Given the description of an element on the screen output the (x, y) to click on. 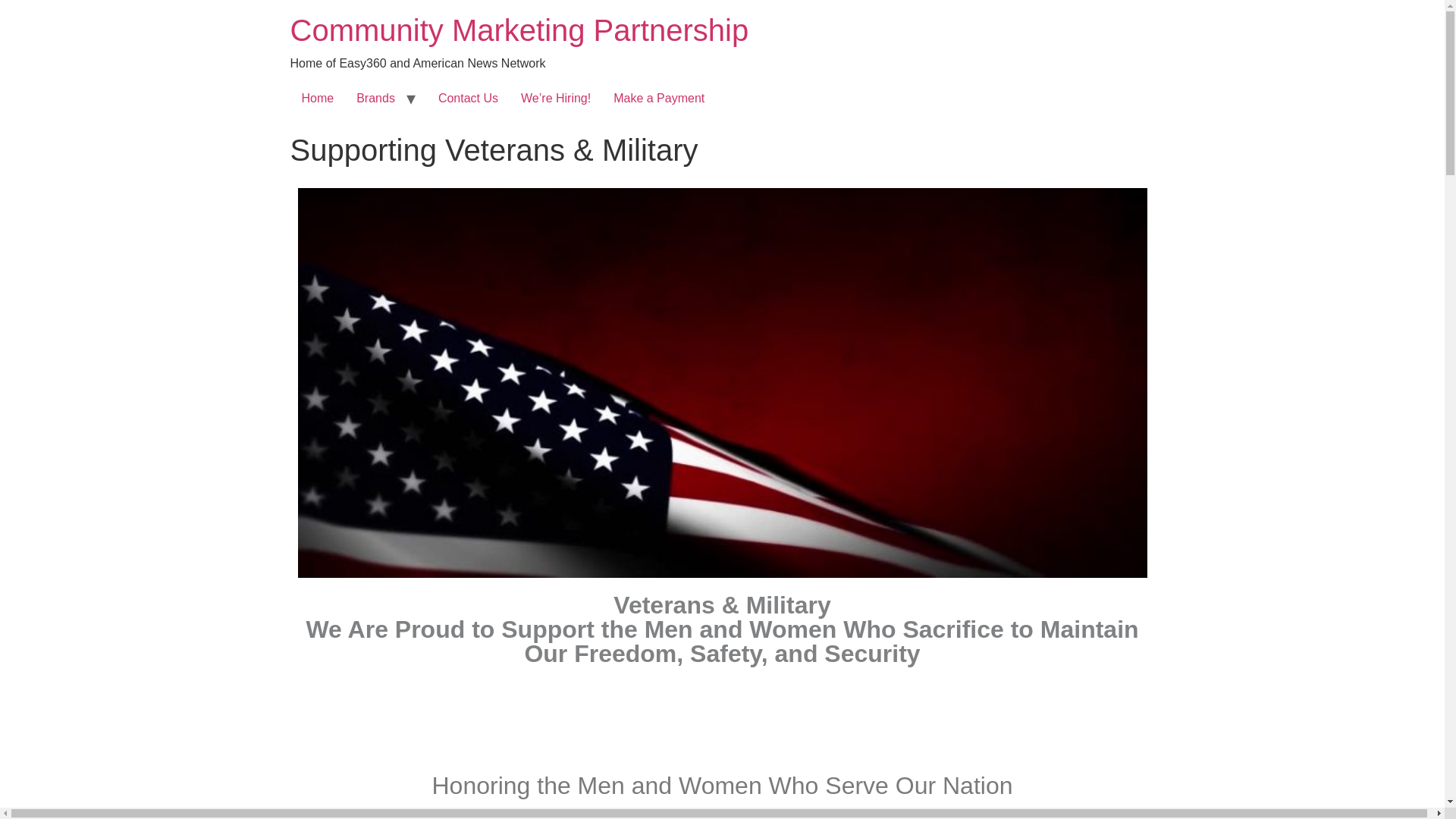
Contact Us (467, 98)
Home (518, 29)
Home (317, 98)
Make a Payment (659, 98)
Community Marketing Partnership (518, 29)
Brands (375, 98)
